Given the description of an element on the screen output the (x, y) to click on. 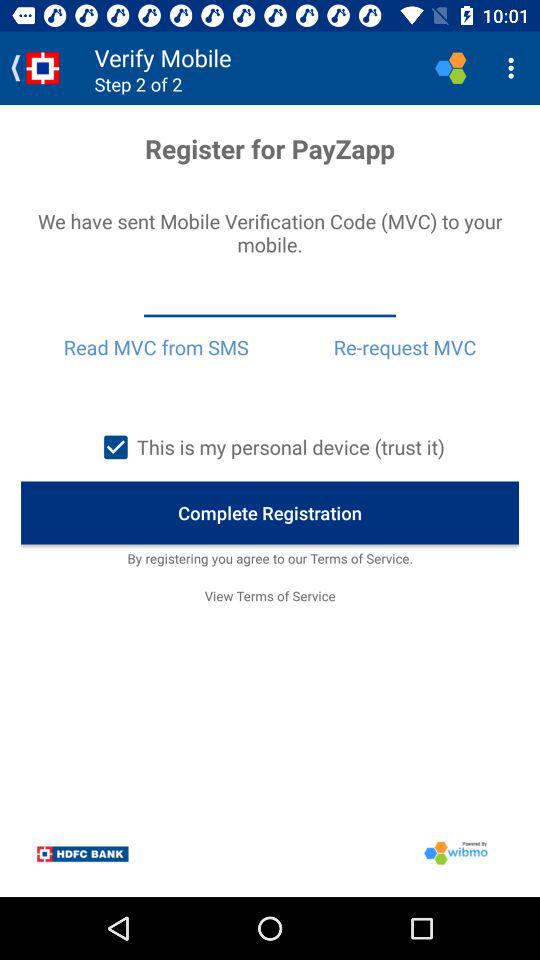
turn on the item above the register for payzapp item (513, 67)
